Given the description of an element on the screen output the (x, y) to click on. 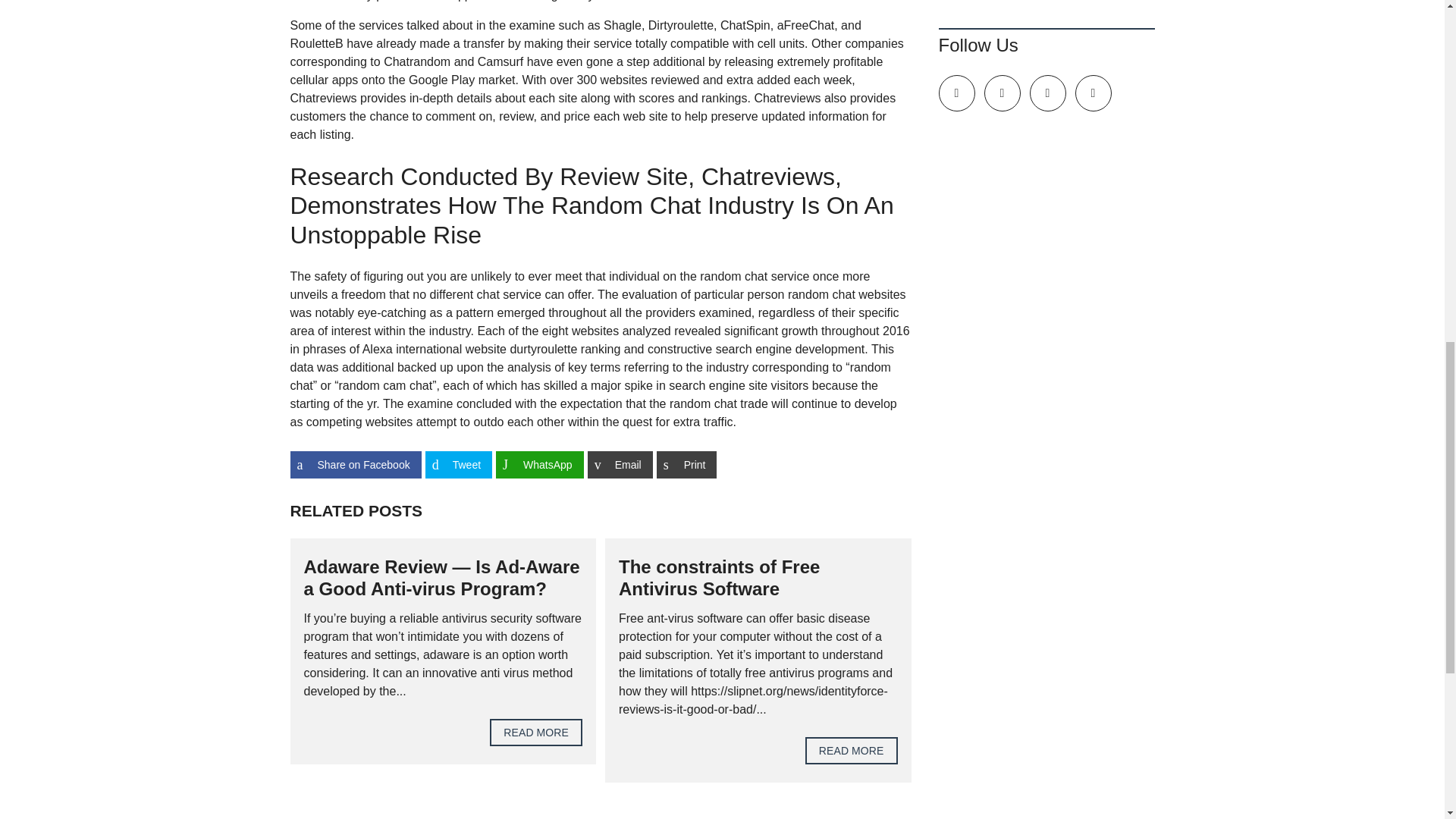
Share on WhatsApp (539, 464)
Share on Print (686, 464)
READ MORE (851, 750)
READ MORE (535, 732)
Tweet (458, 464)
WhatsApp (539, 464)
durtyroulette (542, 349)
Share on Facebook (354, 464)
Share on Tweet (458, 464)
Email (620, 464)
The constraints of Free Antivirus Software (718, 577)
Share on Share on Facebook (354, 464)
The constraints of Free Antivirus Software (718, 577)
Print (686, 464)
Share on Email (620, 464)
